Given the description of an element on the screen output the (x, y) to click on. 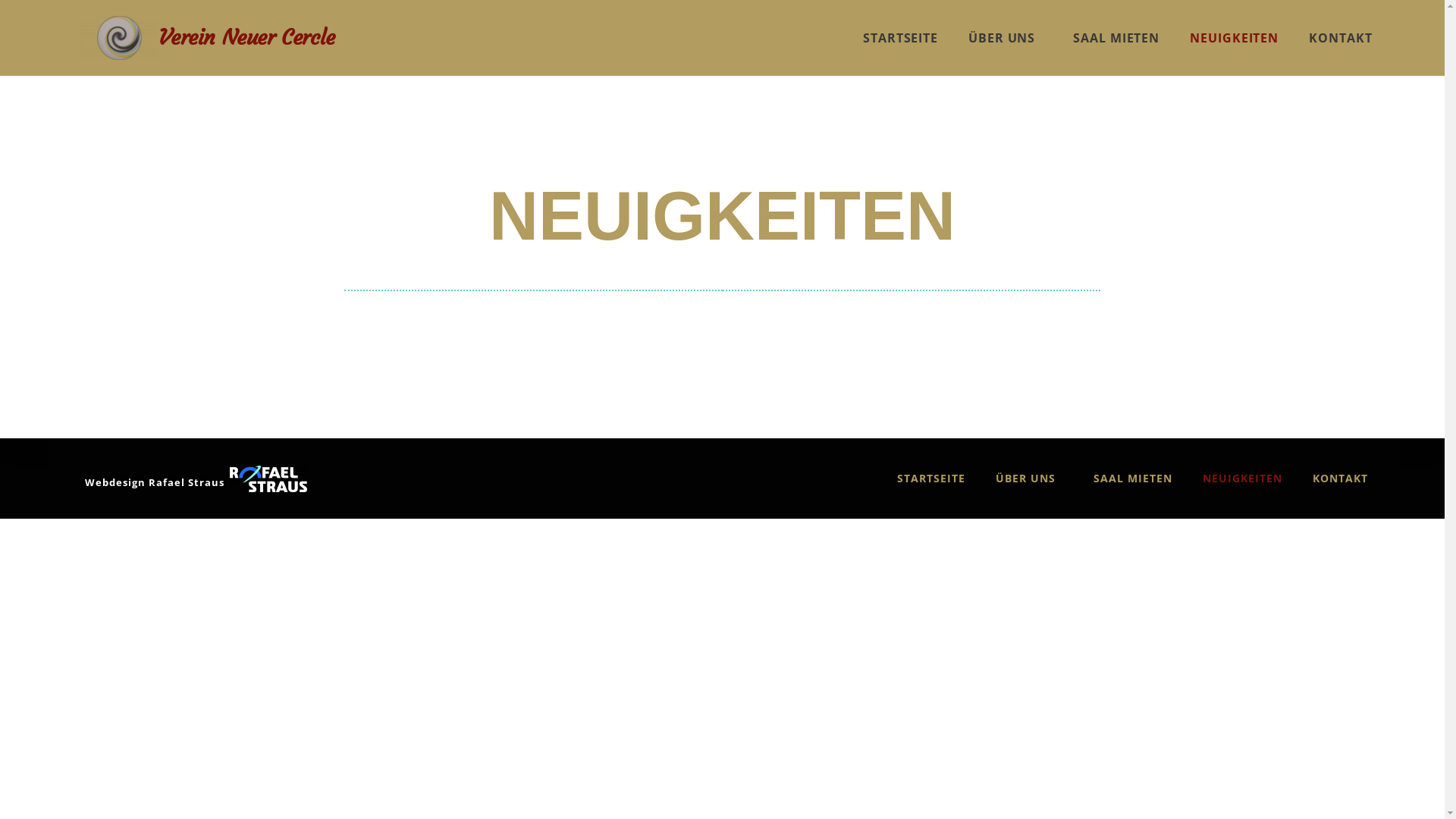
Verein Neuer Cercle Element type: text (246, 37)
KONTAKT Element type: text (1340, 478)
NEUIGKEITEN Element type: text (1242, 478)
STARTSEITE Element type: text (930, 478)
STARTSEITE Element type: text (900, 37)
Logo Rafael Straus white Element type: hover (268, 478)
NEUIGKEITEN Element type: text (1233, 37)
SAAL MIETEN Element type: text (1132, 478)
Webdesign Rafael Straus Element type: text (154, 481)
KONTAKT Element type: text (1339, 37)
cropped-Logo-1.png Element type: hover (119, 37)
SAAL MIETEN Element type: text (1115, 37)
